Given the description of an element on the screen output the (x, y) to click on. 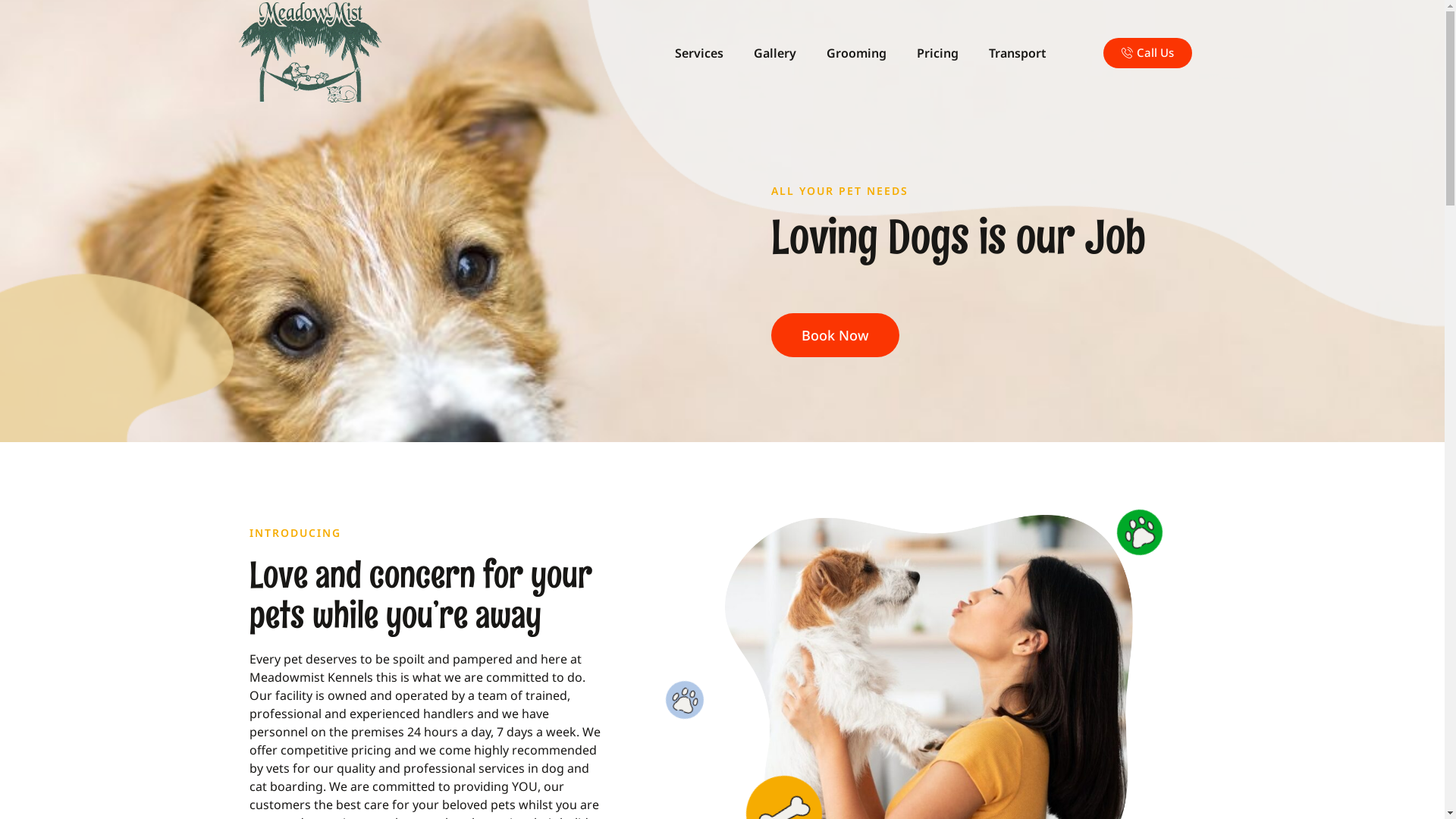
Call Us Element type: text (1147, 52)
Grooming Element type: text (856, 52)
Book Now Element type: text (834, 335)
Services Element type: text (698, 52)
Gallery Element type: text (774, 52)
Pricing Element type: text (937, 52)
output-onlinegiftools Element type: hover (309, 53)
Transport Element type: text (1017, 52)
